Given the description of an element on the screen output the (x, y) to click on. 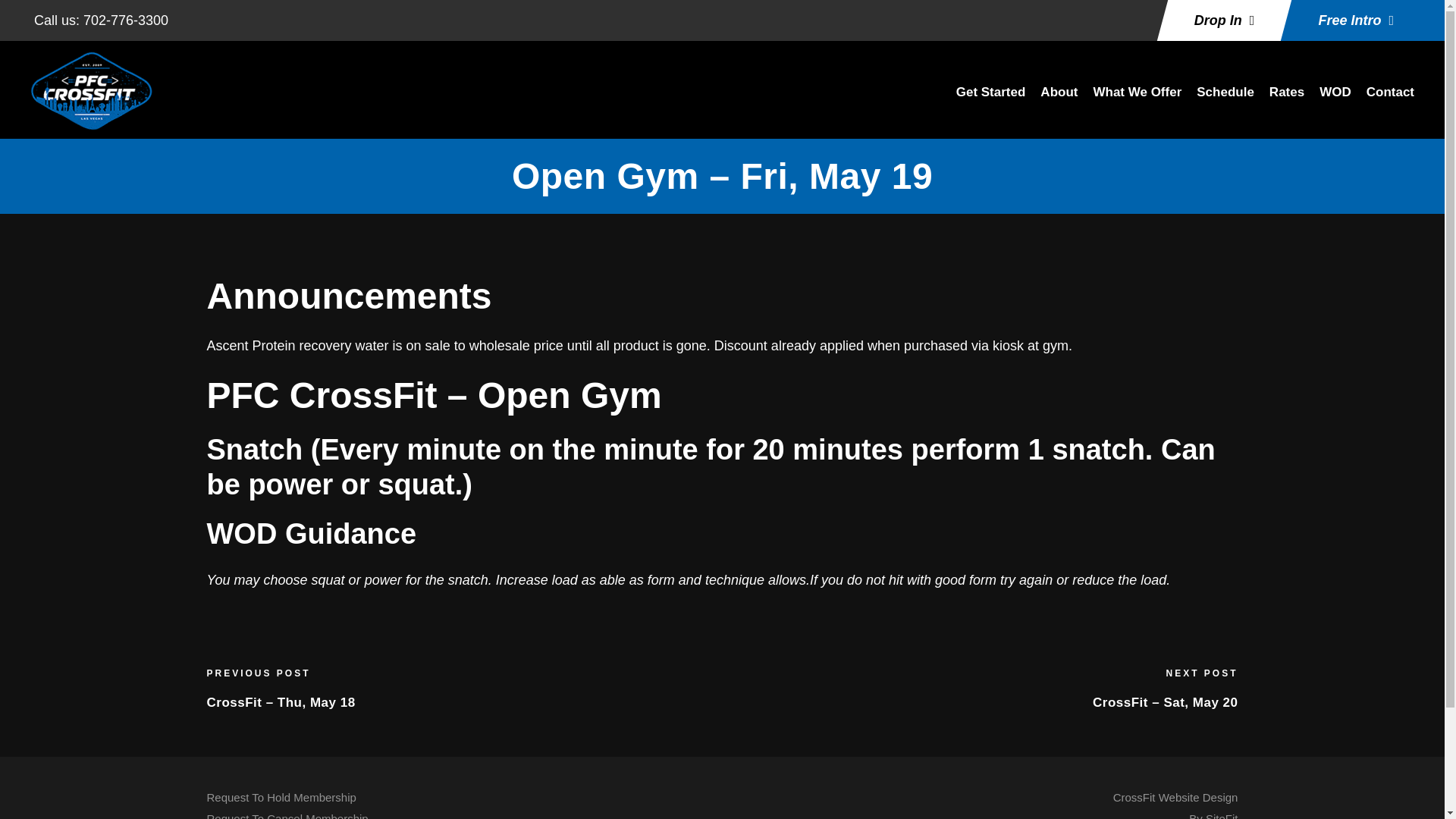
Schedule (1224, 100)
Request To Hold Membership (280, 797)
About (1059, 100)
Get Started (991, 100)
Free Intro (1355, 20)
CrossFit Website Design By SiteFit (1176, 805)
Drop In (1224, 20)
702-776-3300 (125, 20)
Rates (1176, 805)
Contact (1286, 100)
What We Offer (1390, 100)
Request To Cancel Membership (1136, 100)
